Given the description of an element on the screen output the (x, y) to click on. 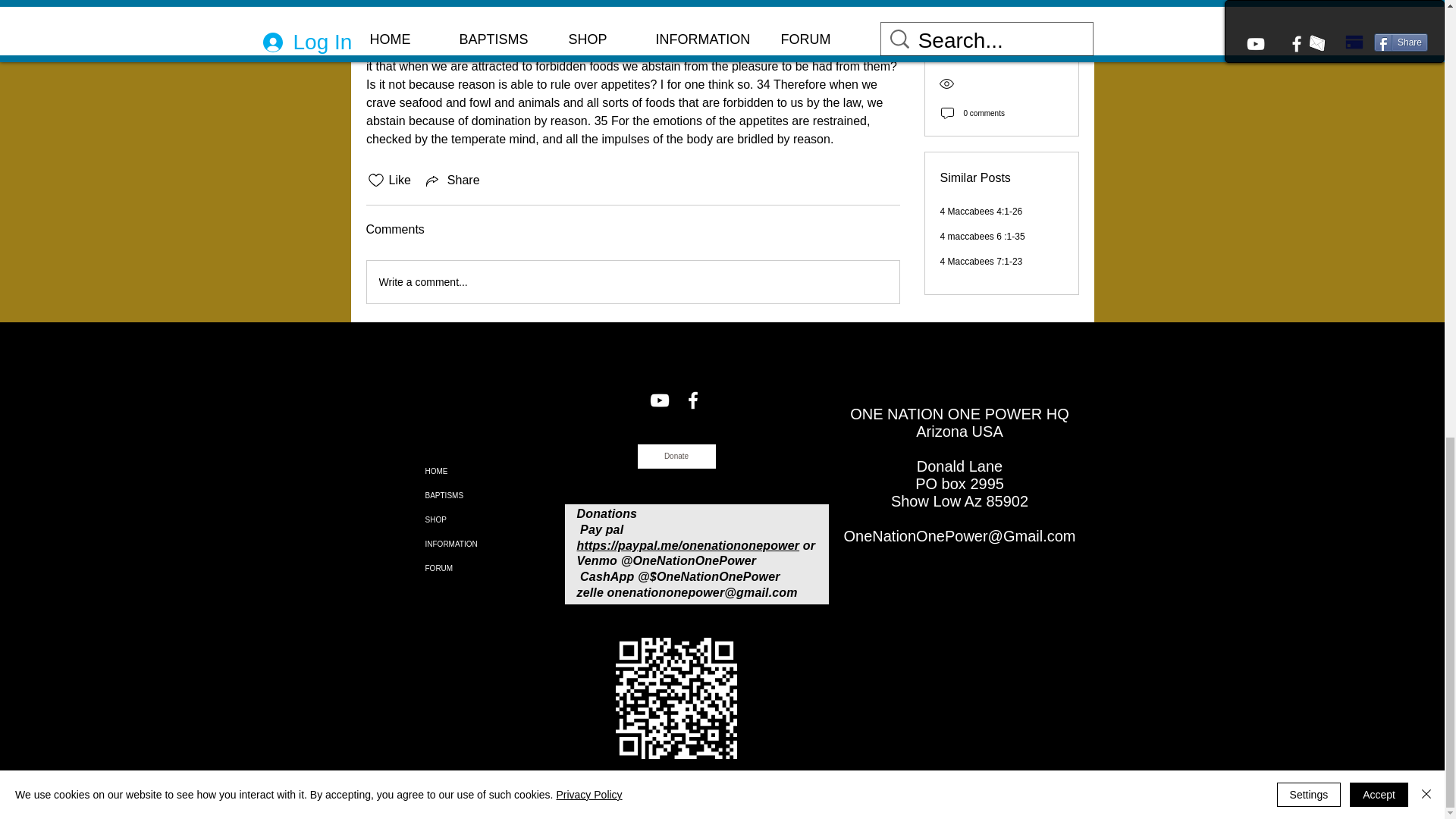
HOME (466, 471)
Write a comment... (632, 282)
Share (451, 180)
SHOP (466, 519)
BAPTISMS (466, 495)
